Given the description of an element on the screen output the (x, y) to click on. 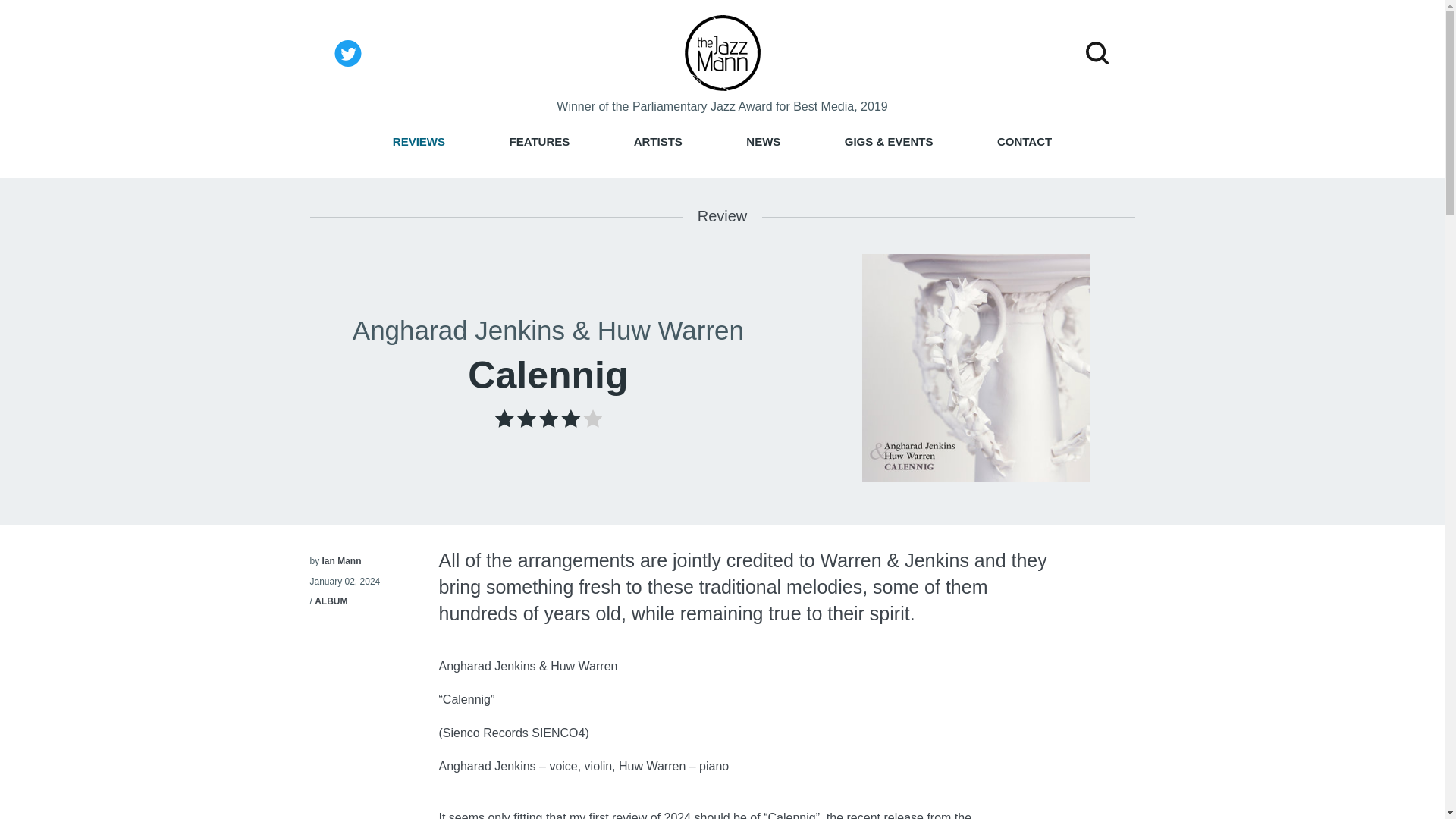
NEWS (763, 141)
Winner of the Parliamentary Jazz Award for Best Media, 2019 (721, 106)
REVIEWS (419, 141)
ARTISTS (658, 141)
FEATURES (539, 141)
CONTACT (1023, 141)
